Given the description of an element on the screen output the (x, y) to click on. 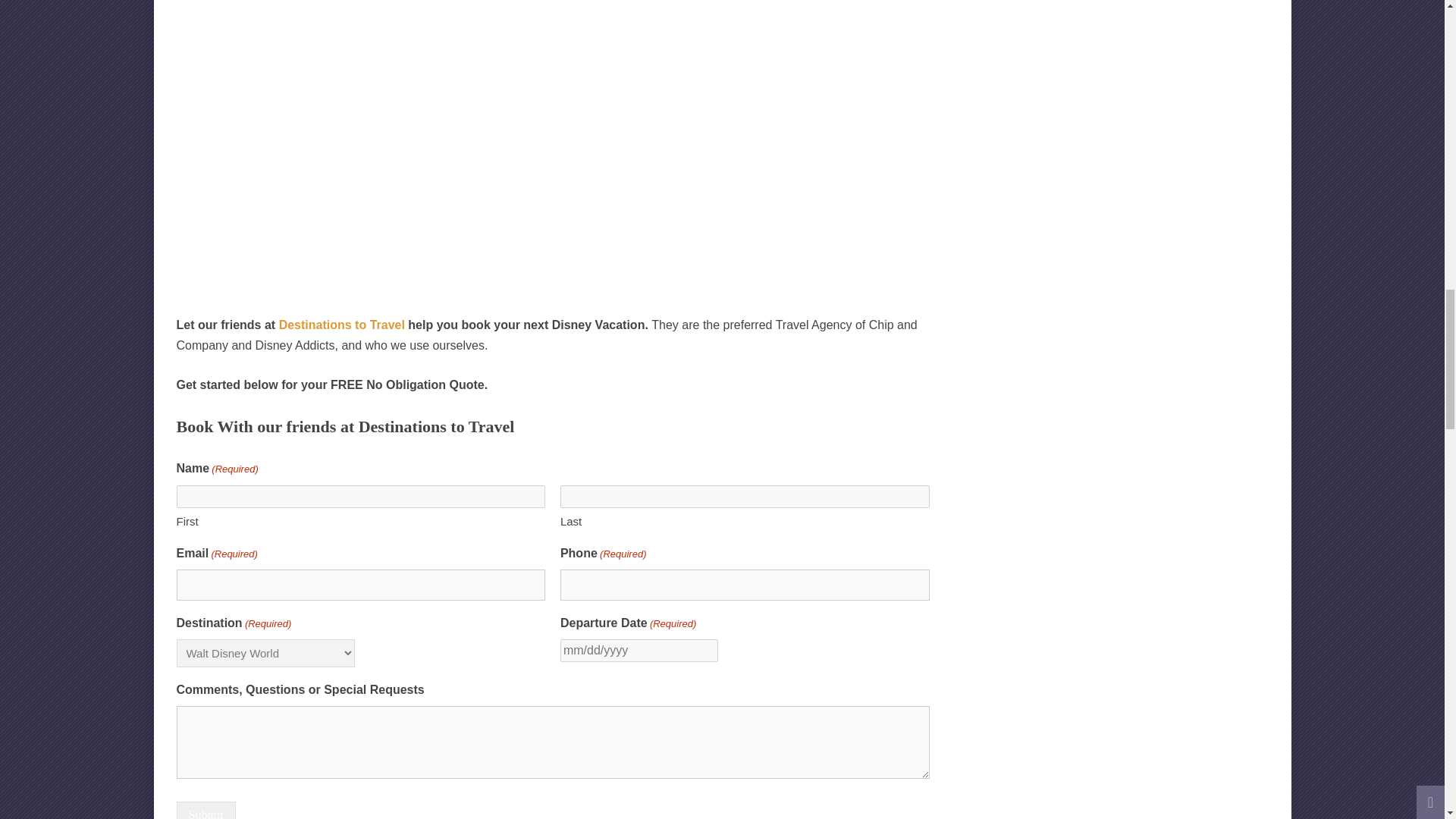
Submit (205, 810)
